Given the description of an element on the screen output the (x, y) to click on. 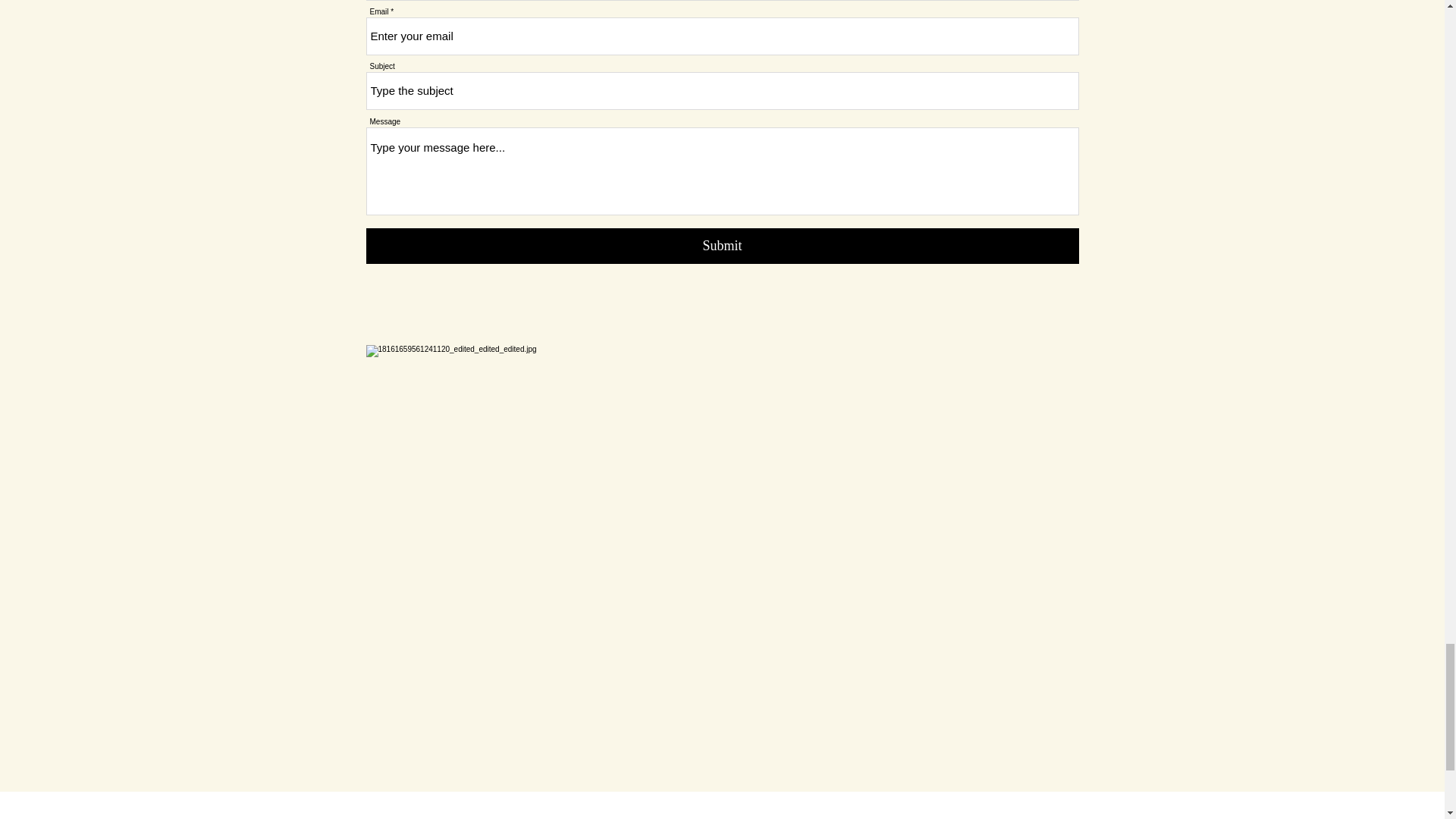
Submit (721, 245)
